Given the description of an element on the screen output the (x, y) to click on. 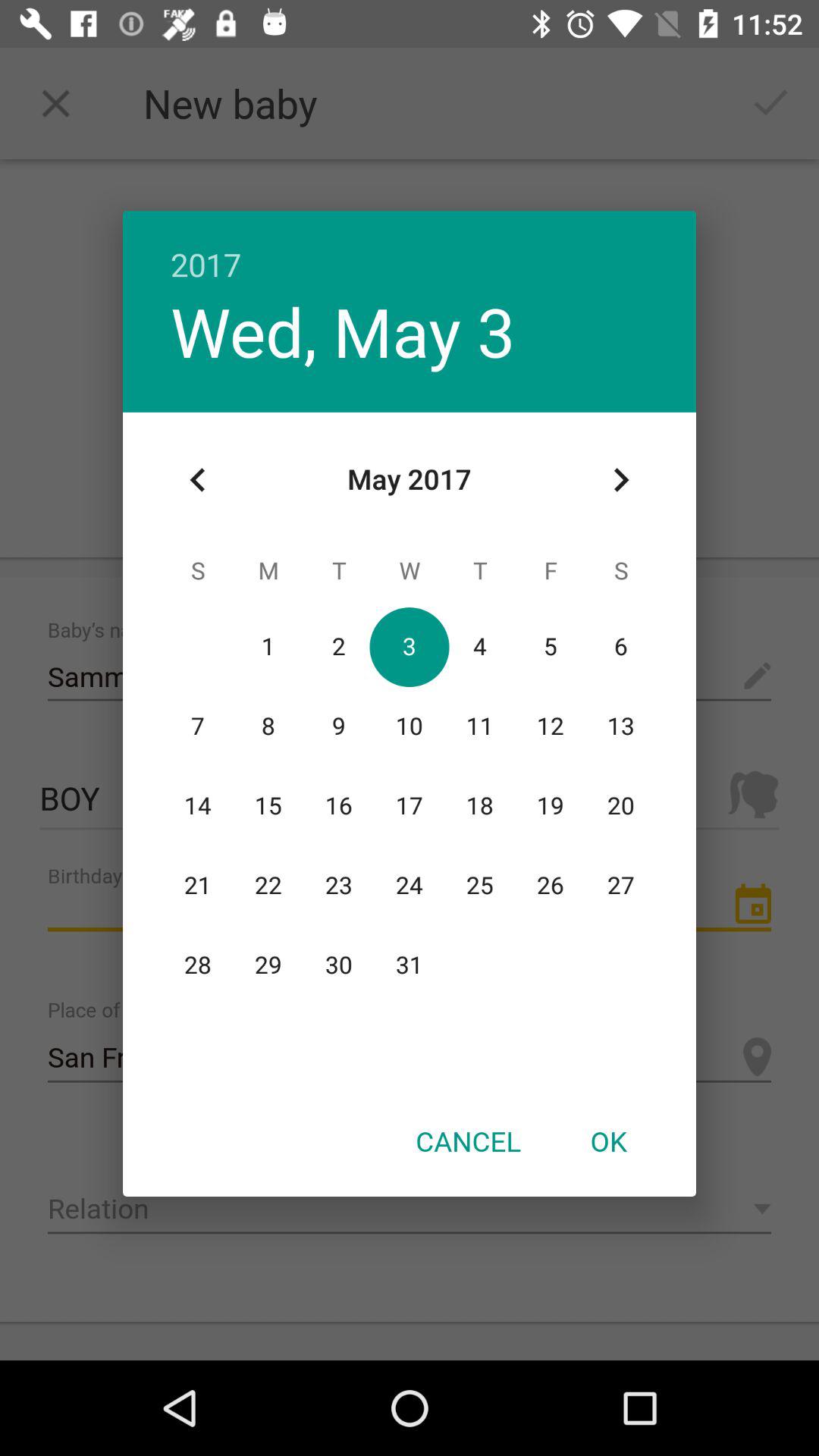
turn on the icon to the left of the ok (467, 1140)
